Given the description of an element on the screen output the (x, y) to click on. 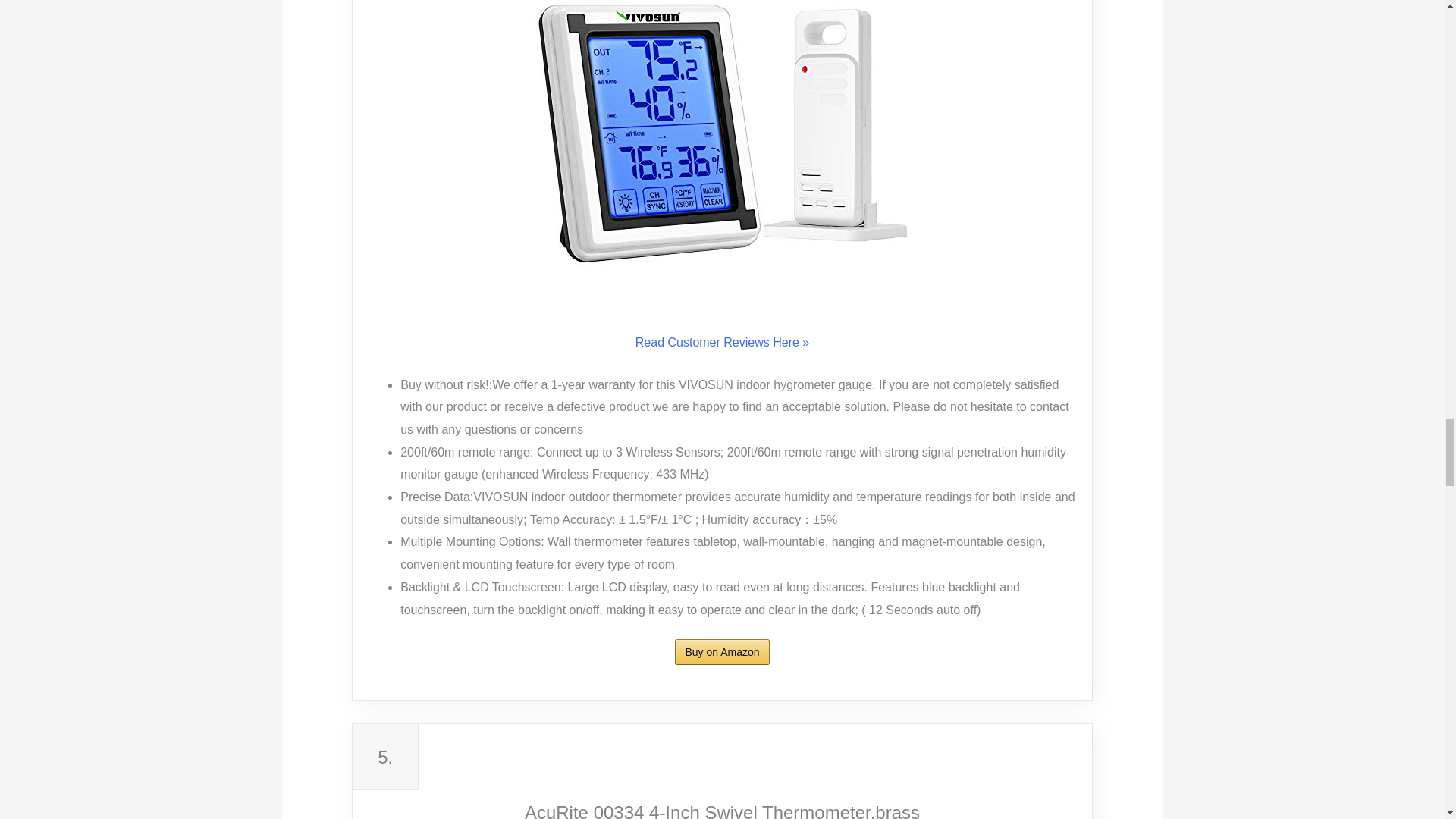
Buy on Amazon (721, 652)
Read Customer Reviews Here (721, 342)
